Given the description of an element on the screen output the (x, y) to click on. 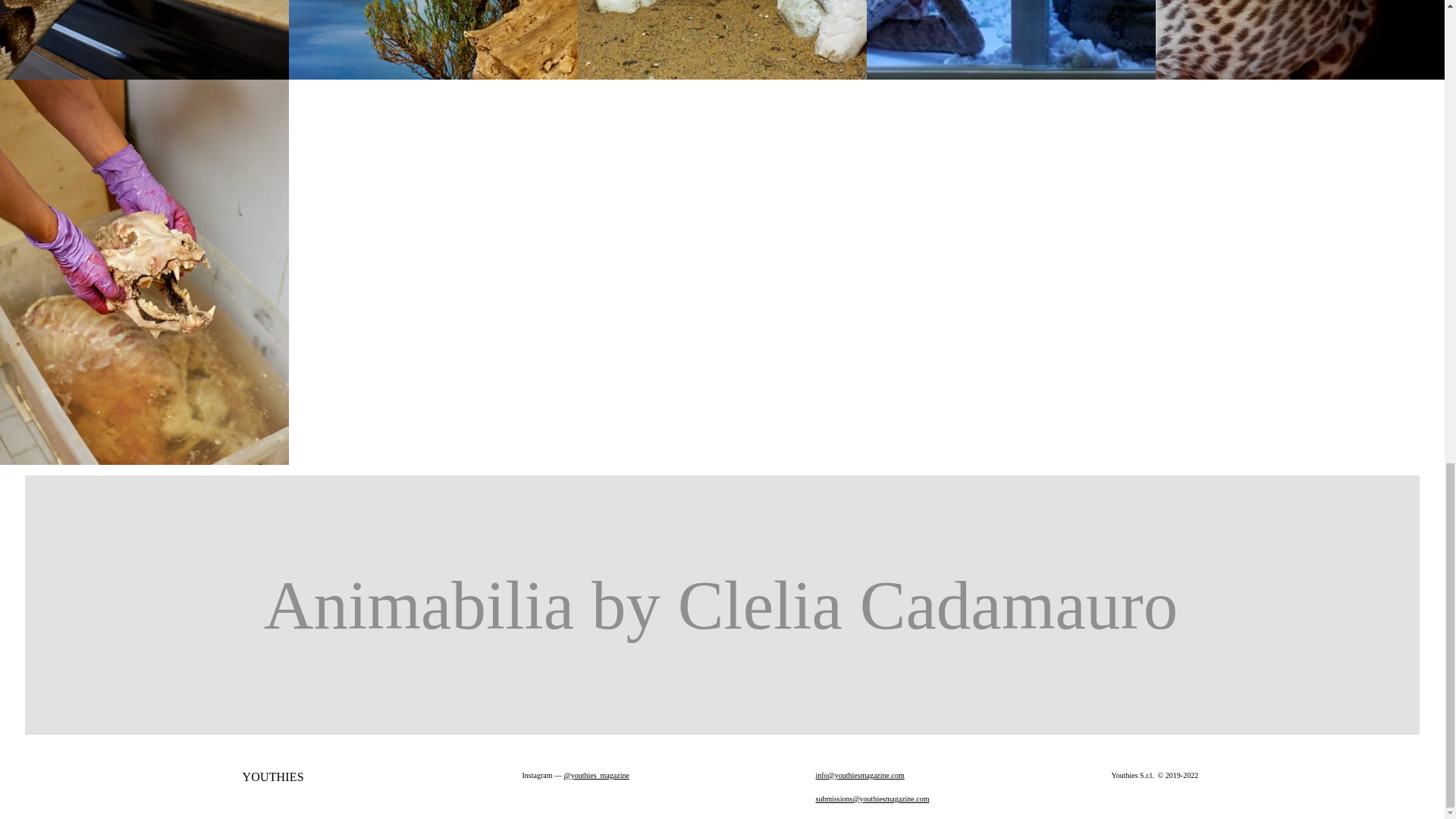
YOUTHIES (273, 776)
